Given the description of an element on the screen output the (x, y) to click on. 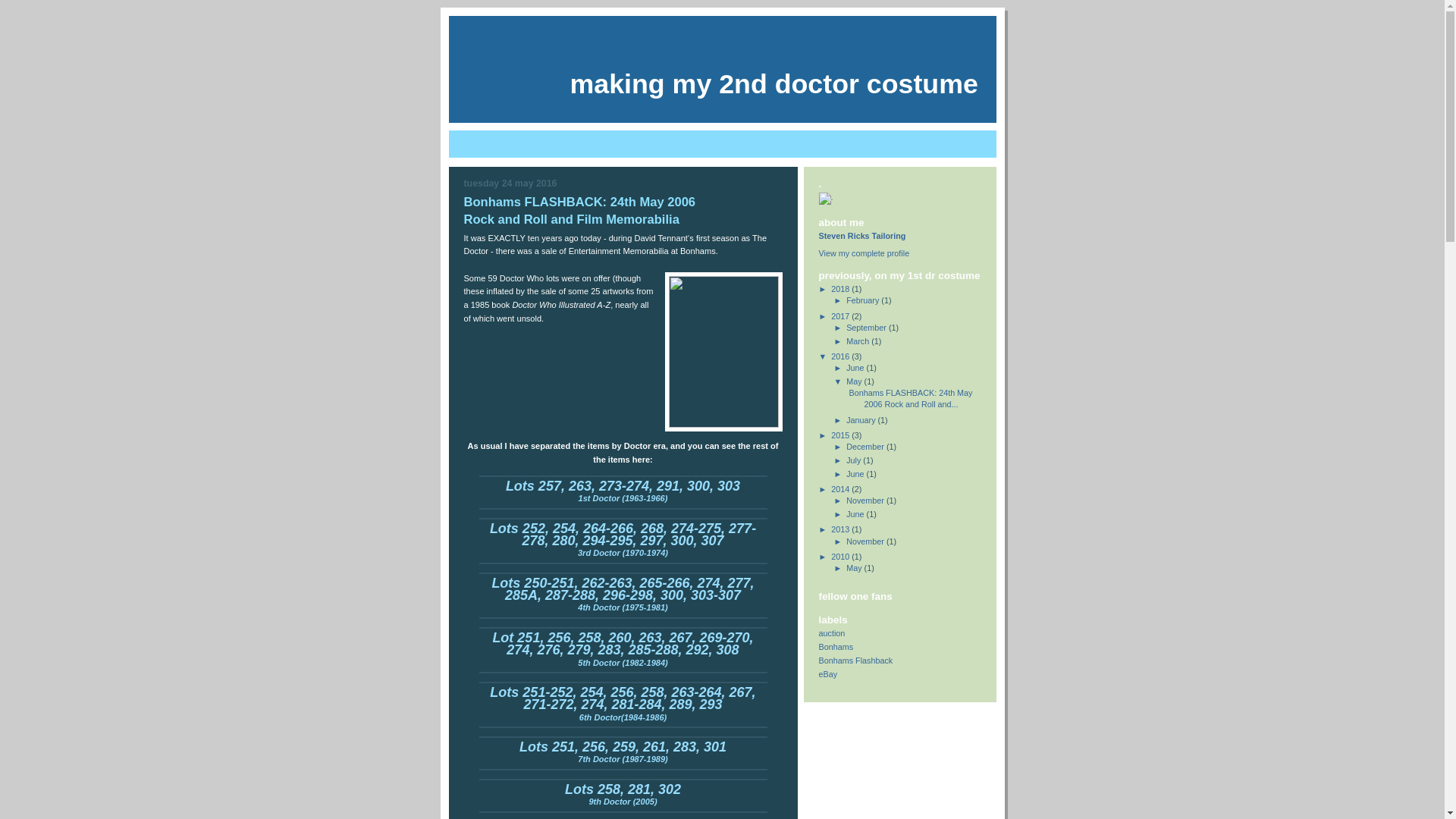
Steven Ricks Tailoring Element type: text (862, 235)
March Element type: text (858, 340)
eBay Element type: text (828, 673)
auction Element type: text (832, 632)
January Element type: text (861, 419)
2015 Element type: text (841, 434)
View my complete profile Element type: text (864, 252)
2016 Element type: text (841, 355)
February Element type: text (863, 299)
2013 Element type: text (841, 528)
2010 Element type: text (841, 556)
Bonhams Flashback Element type: text (856, 660)
June Element type: text (856, 367)
July Element type: text (854, 459)
Lots 251, 256, 259, 261, 283, 301
7th Doctor (1987-1989) Element type: text (622, 753)
Bonhams FLASHBACK: 24th May 2006 Rock and Roll and... Element type: text (910, 398)
2018 Element type: text (841, 288)
June Element type: text (856, 473)
May Element type: text (854, 567)
December Element type: text (866, 446)
2017 Element type: text (841, 315)
September Element type: text (867, 327)
2014 Element type: text (841, 488)
May Element type: text (854, 380)
November Element type: text (866, 541)
June Element type: text (856, 513)
Lots 258, 281, 302
9th Doctor (2005) Element type: text (622, 796)
Bonhams Element type: text (836, 646)
Lots 257, 263, 273-274, 291, 300, 303
1st Doctor (1963-1966) Element type: text (622, 492)
making my 2nd doctor costume Element type: text (774, 84)
November Element type: text (866, 500)
